Given the description of an element on the screen output the (x, y) to click on. 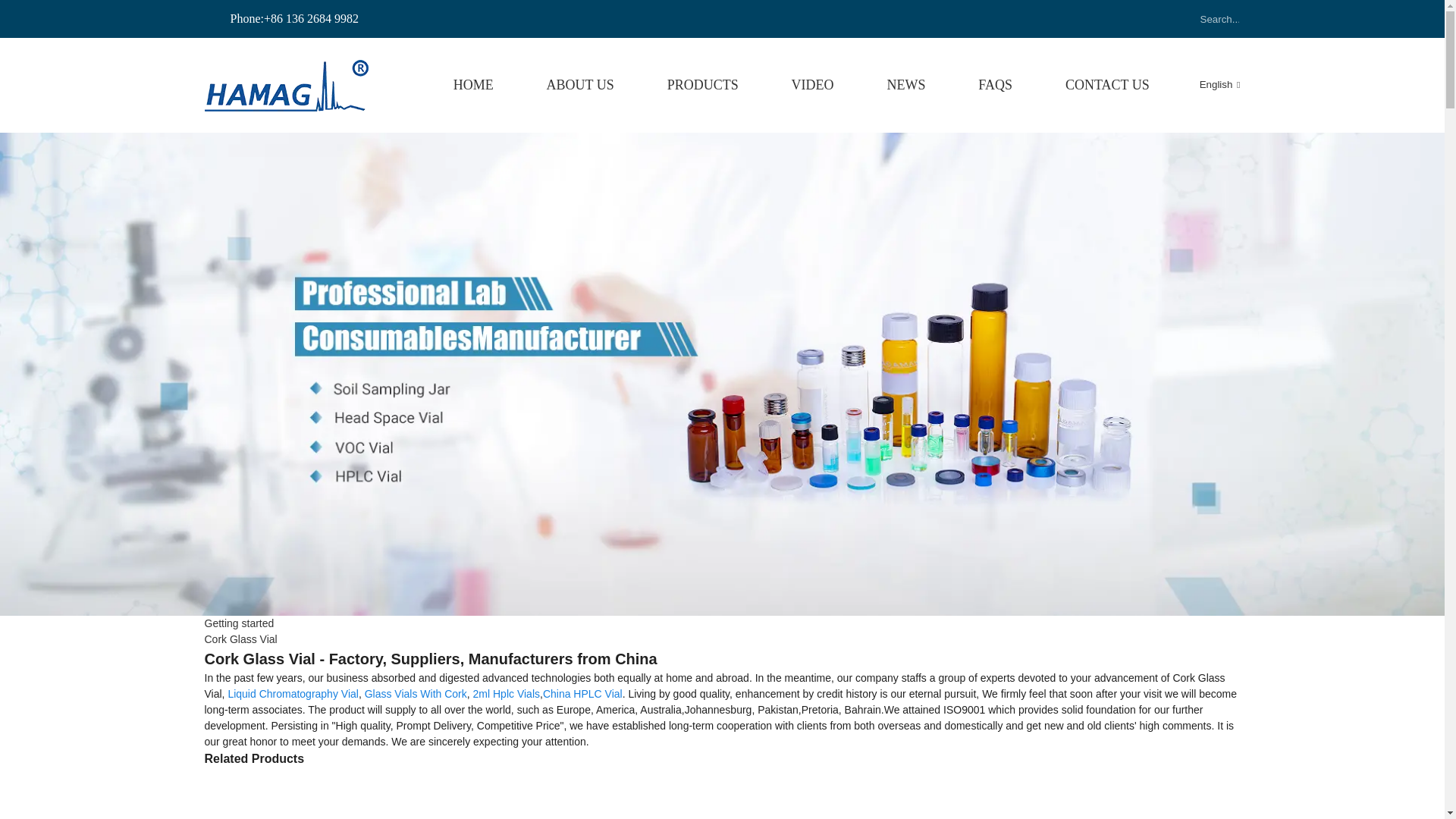
China HPLC Vial (583, 693)
HOME (472, 84)
Glass Vials With Cork (416, 693)
2ml Hplc Vials (506, 693)
PRODUCTS (702, 84)
Liquid Chromatography Vial (292, 693)
ABOUT US (580, 84)
